Given the description of an element on the screen output the (x, y) to click on. 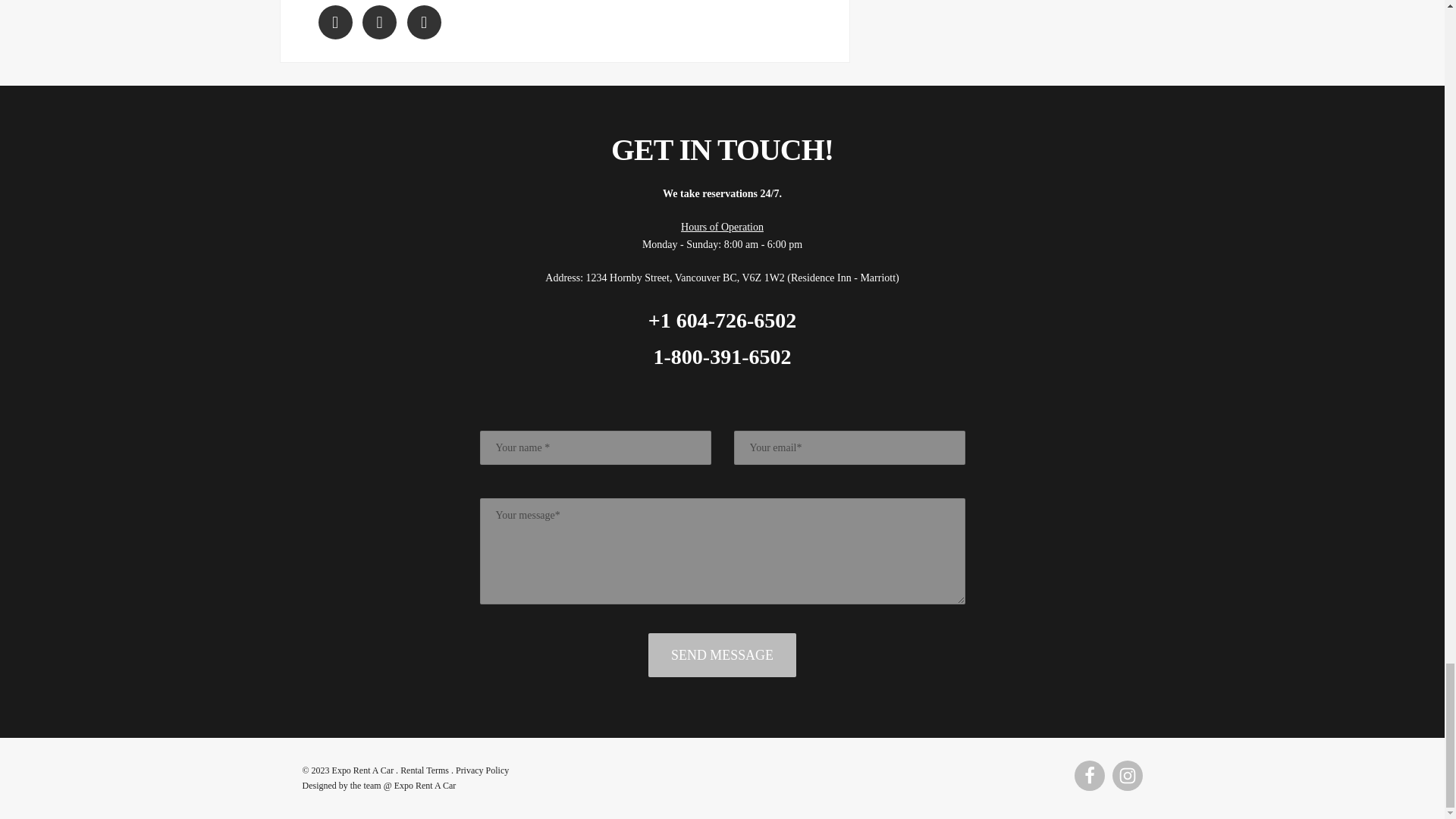
Send message (721, 655)
Instagram (1126, 775)
Rental Terms (424, 769)
Facebook (1088, 775)
Send message (721, 655)
